Given the description of an element on the screen output the (x, y) to click on. 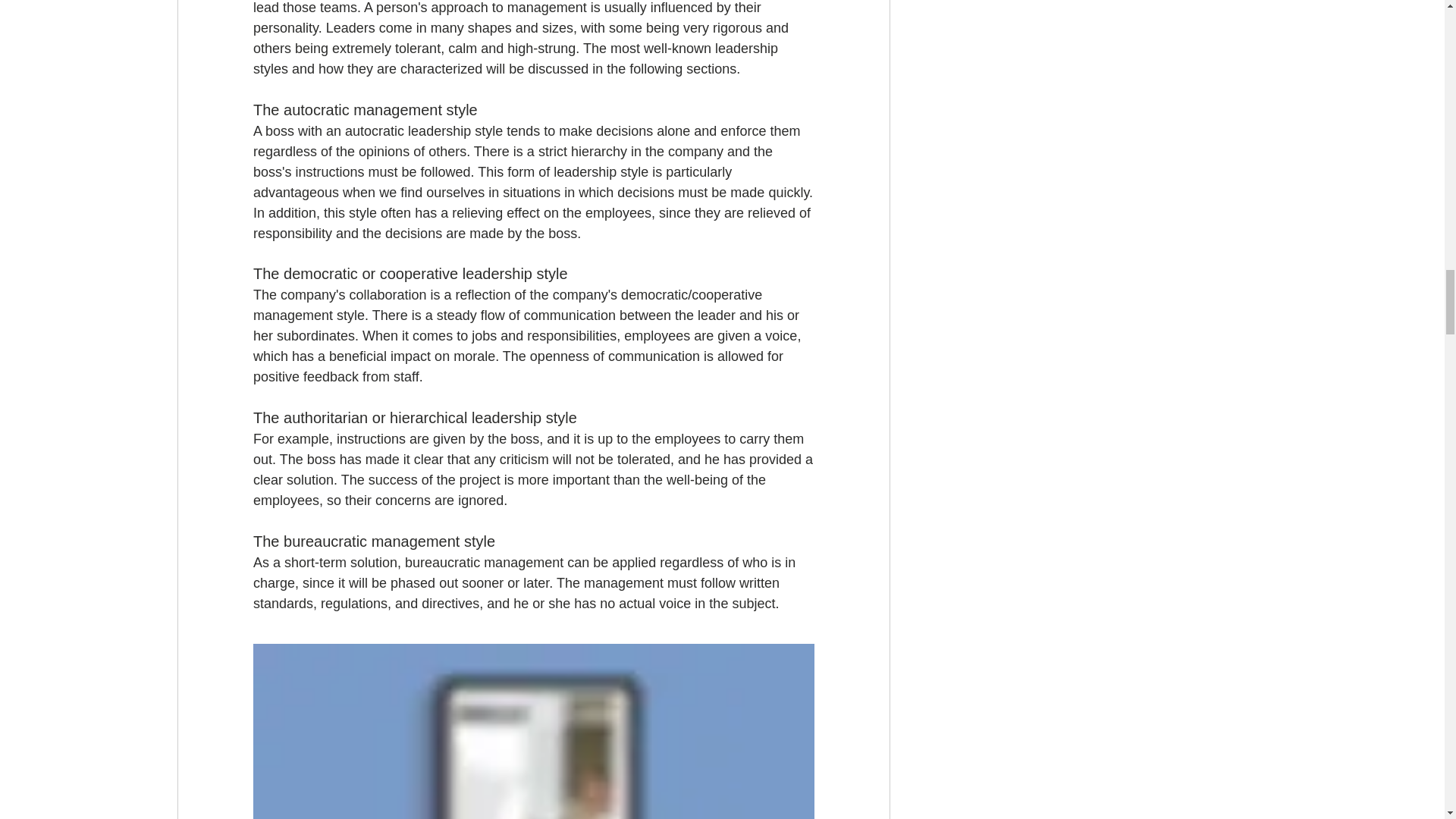
Skills to Lead eBook Download for Free (533, 731)
